Given the description of an element on the screen output the (x, y) to click on. 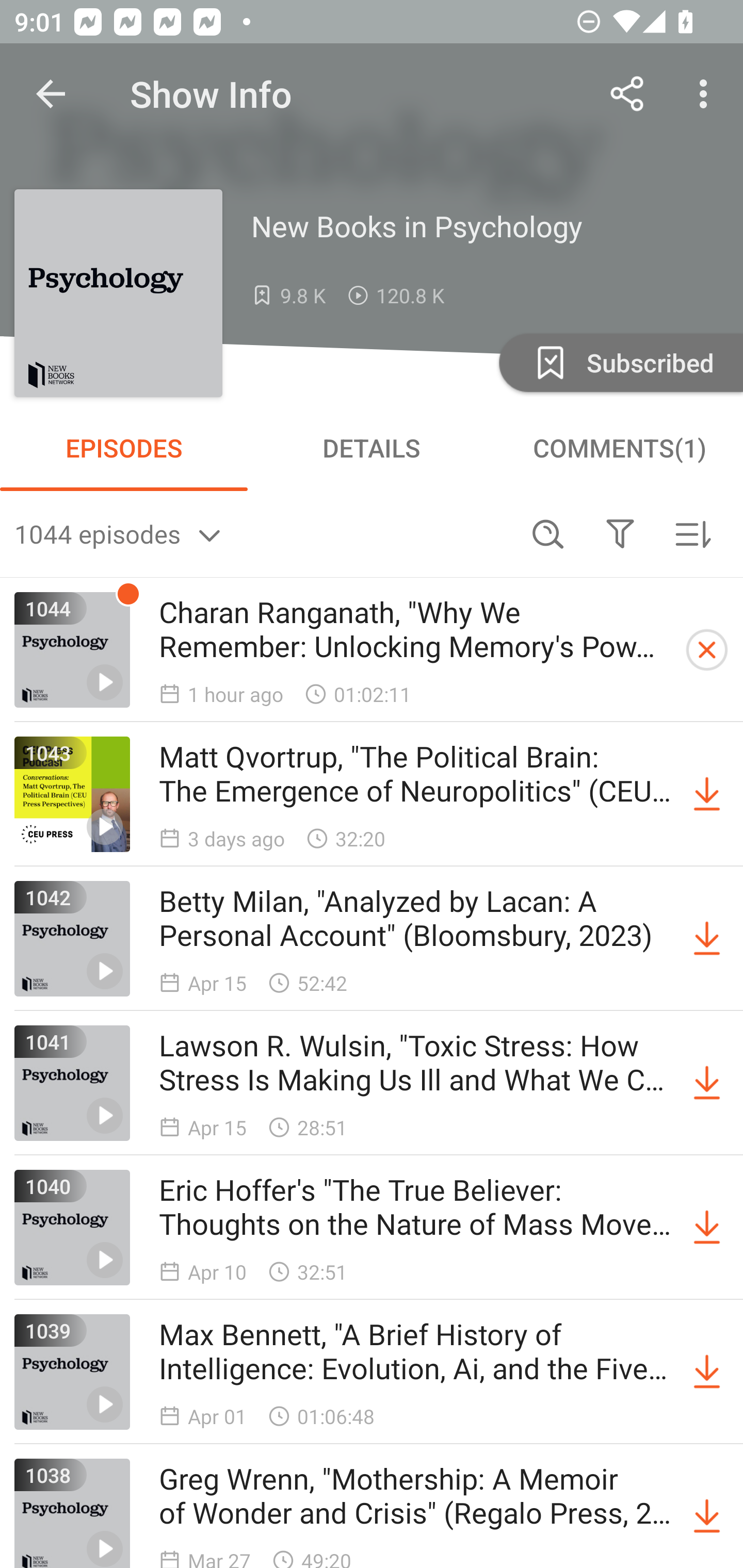
Navigate up (50, 93)
Share (626, 93)
More options (706, 93)
Unsubscribe Subscribed (619, 361)
EPISODES (123, 447)
DETAILS (371, 447)
COMMENTS(1) (619, 447)
1044 episodes  (262, 533)
 Search (547, 533)
 (619, 533)
 Sorted by newest first (692, 533)
Cancel Downloading (706, 649)
Download (706, 793)
Download (706, 939)
Download (706, 1083)
Download (706, 1227)
Download (706, 1371)
Download (706, 1513)
